Given the description of an element on the screen output the (x, y) to click on. 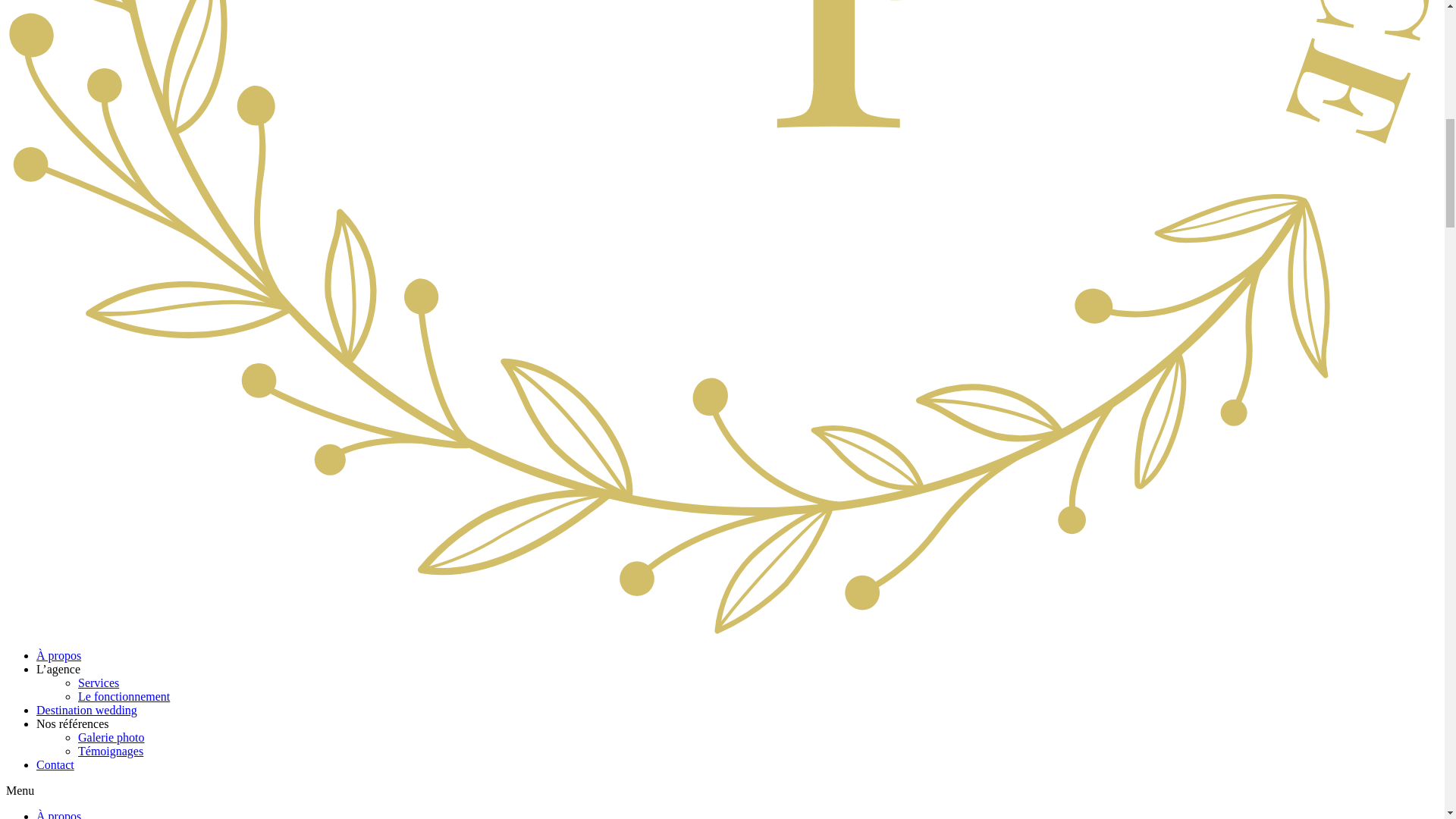
Services (98, 682)
Galerie photo (111, 737)
Le fonctionnement (124, 696)
Destination wedding (86, 709)
Contact (55, 764)
